Given the description of an element on the screen output the (x, y) to click on. 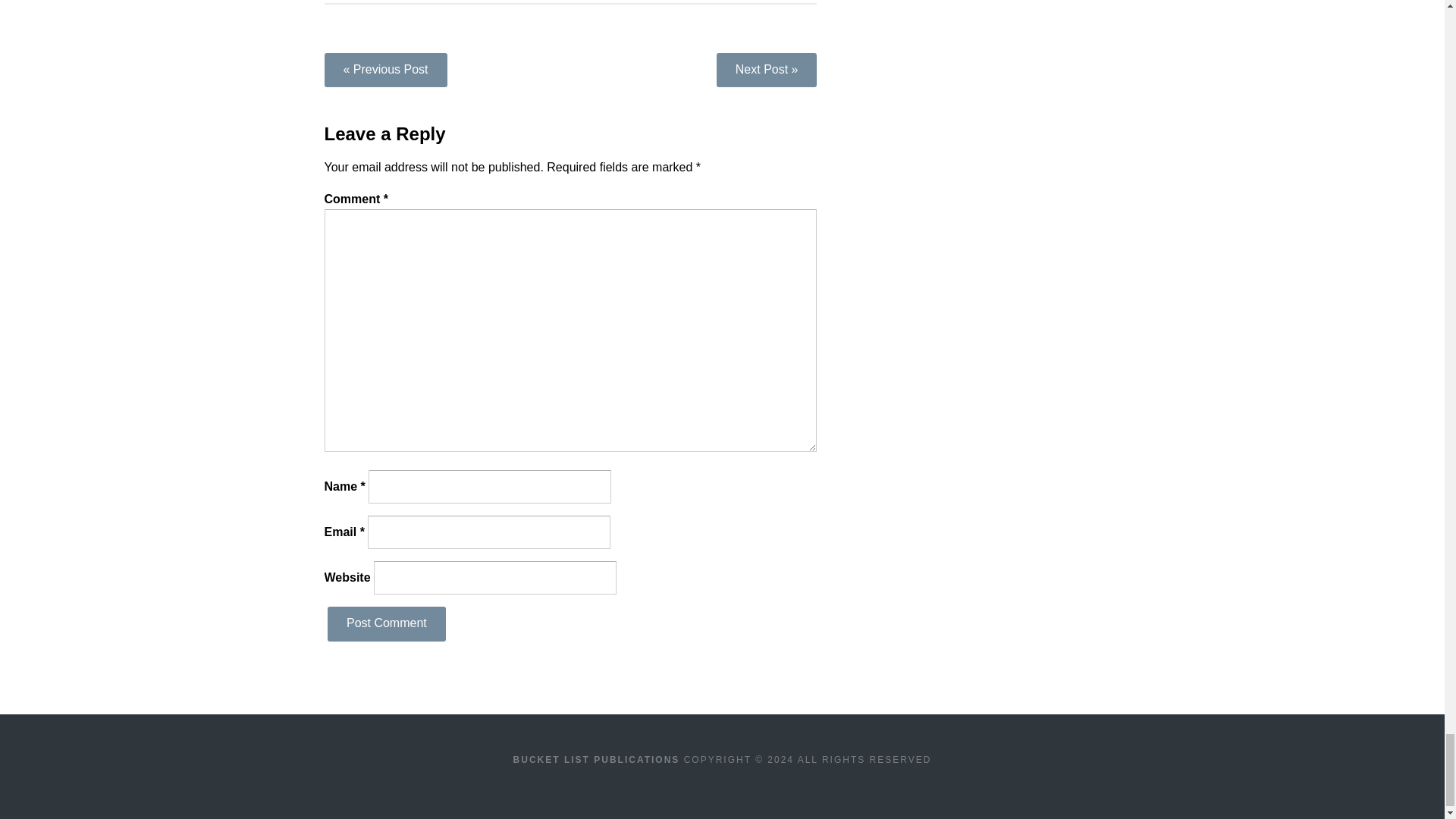
Post Comment (386, 623)
